Given the description of an element on the screen output the (x, y) to click on. 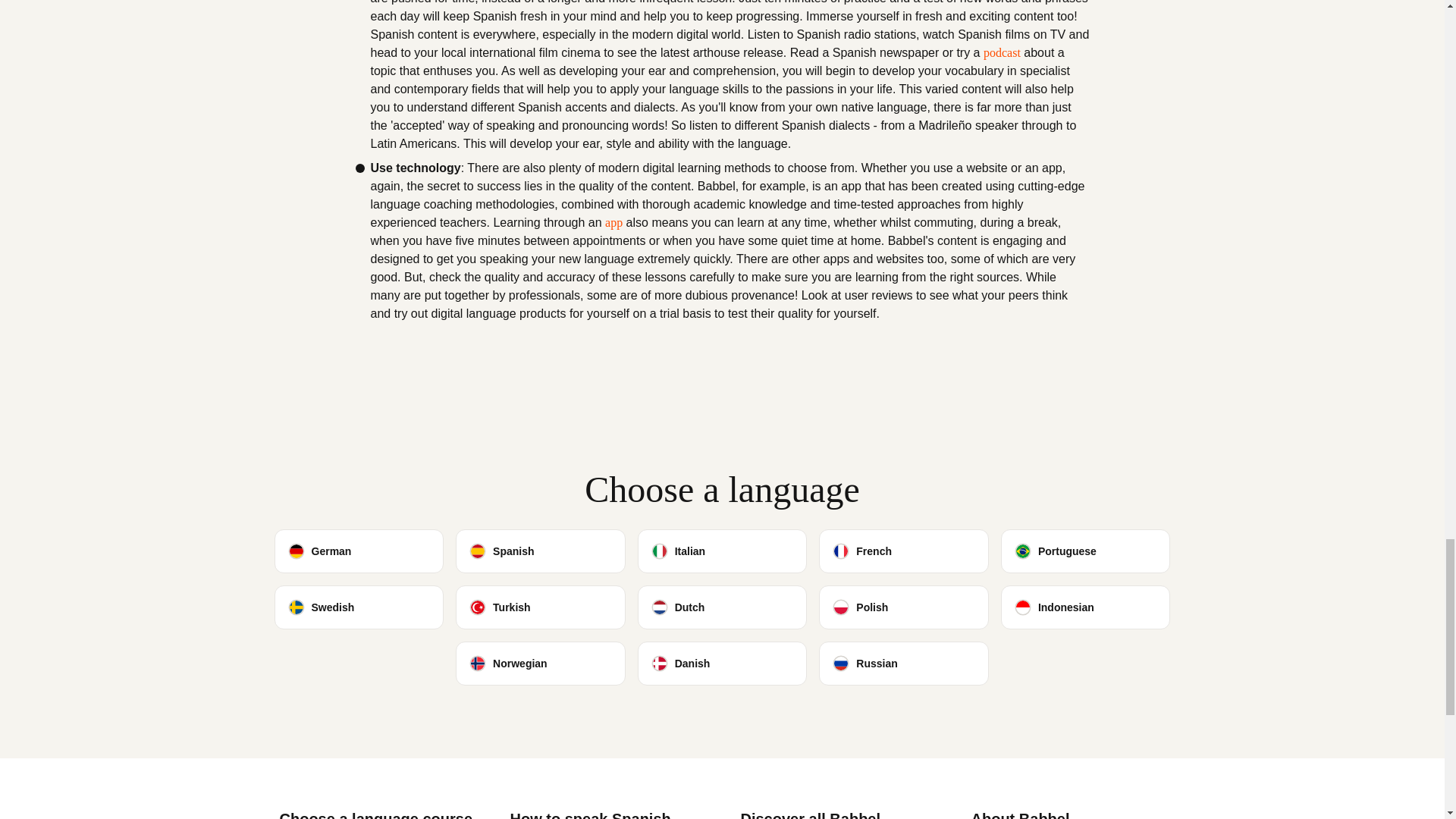
app (614, 222)
Turkish (540, 607)
Indonesian (1085, 607)
Italian (722, 551)
podcast (1002, 53)
Spanish (540, 551)
Swedish (359, 607)
Norwegian (540, 663)
Danish (722, 663)
Portuguese (1085, 551)
Polish (903, 607)
German (359, 551)
Russian (903, 663)
Dutch (722, 607)
French (903, 551)
